Given the description of an element on the screen output the (x, y) to click on. 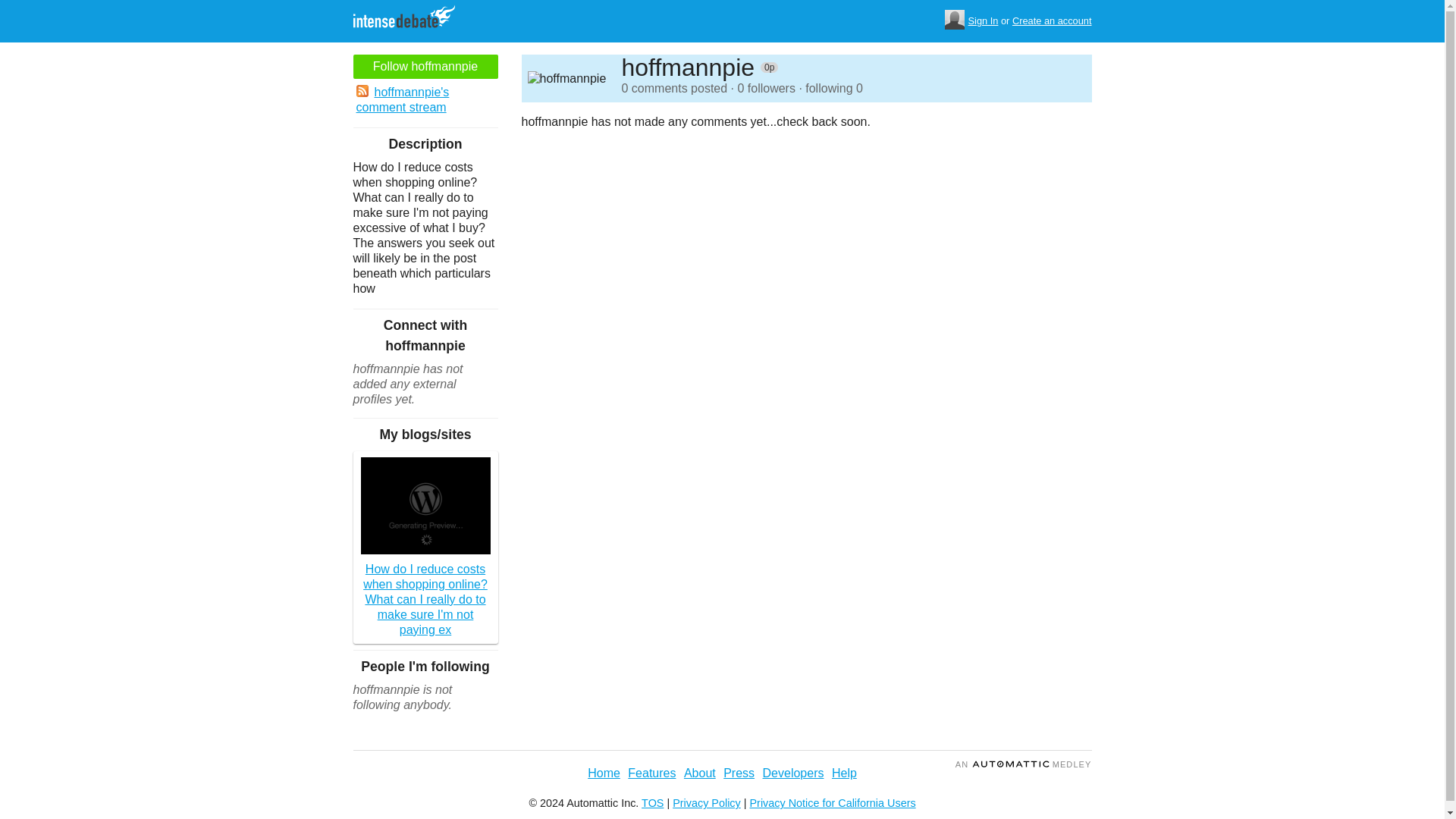
Developers (793, 772)
IntenseDebate Comment System (410, 18)
Home (604, 772)
Create an account (1051, 21)
Features (651, 772)
Sign In (983, 21)
About (700, 772)
Help (844, 772)
AN MEDLEY (1023, 764)
Follow hoffmannpie (425, 66)
TOS (652, 802)
Privacy Notice for California Users (832, 802)
hoffmannpie's comment stream (425, 99)
Privacy Policy (706, 802)
